Given the description of an element on the screen output the (x, y) to click on. 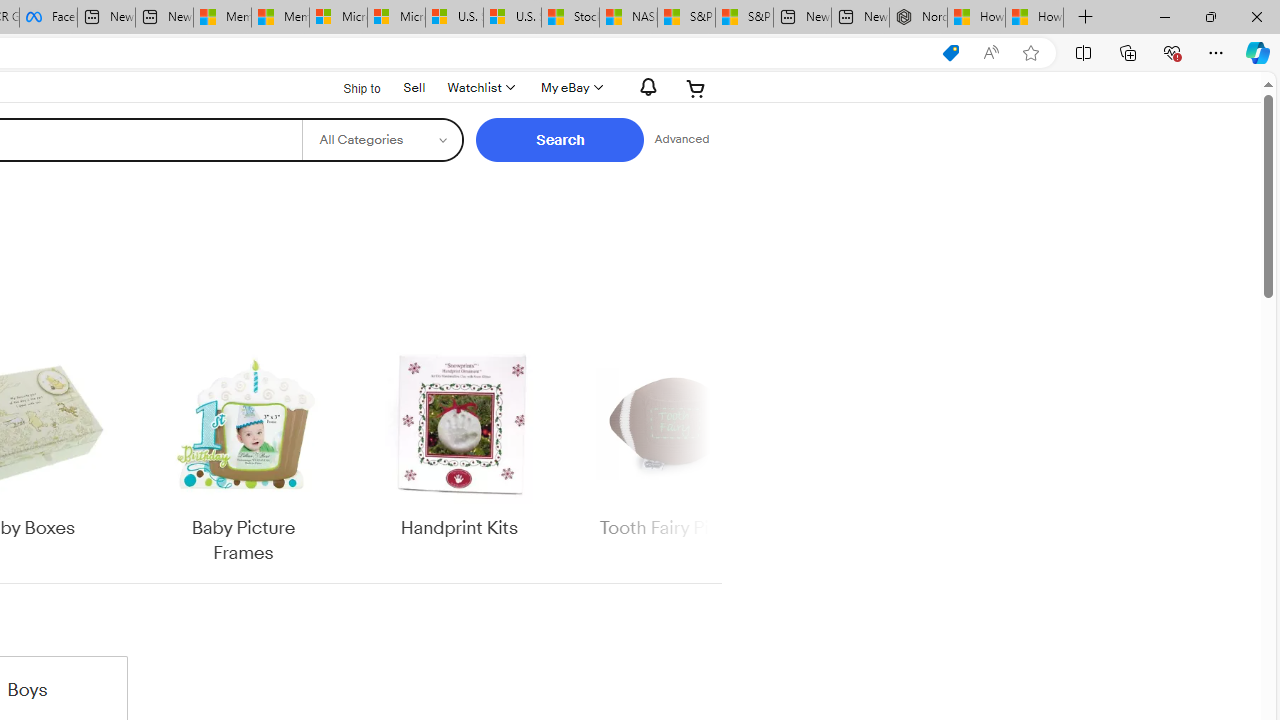
Ship to (349, 89)
Handprint Kits (459, 455)
Watchlist (479, 88)
My eBay (569, 88)
Baby Picture Frames (243, 455)
WatchlistExpand Watch List (479, 88)
Baby Picture Frames (243, 455)
Read aloud this page (Ctrl+Shift+U) (991, 53)
AutomationID: gh-eb-Alerts (645, 87)
